Given the description of an element on the screen output the (x, y) to click on. 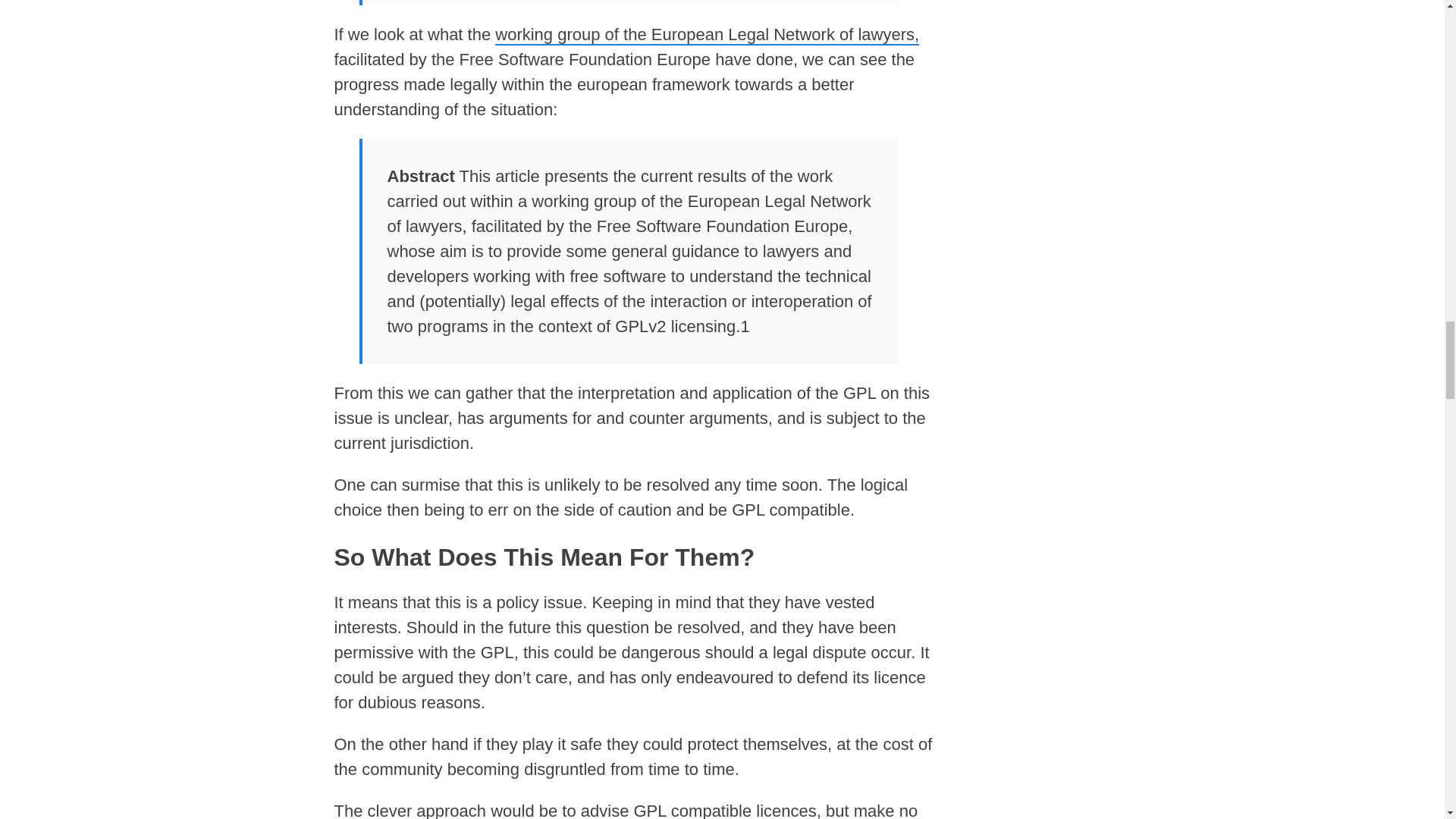
working group of the European Legal Network of lawyers, (706, 35)
